Given the description of an element on the screen output the (x, y) to click on. 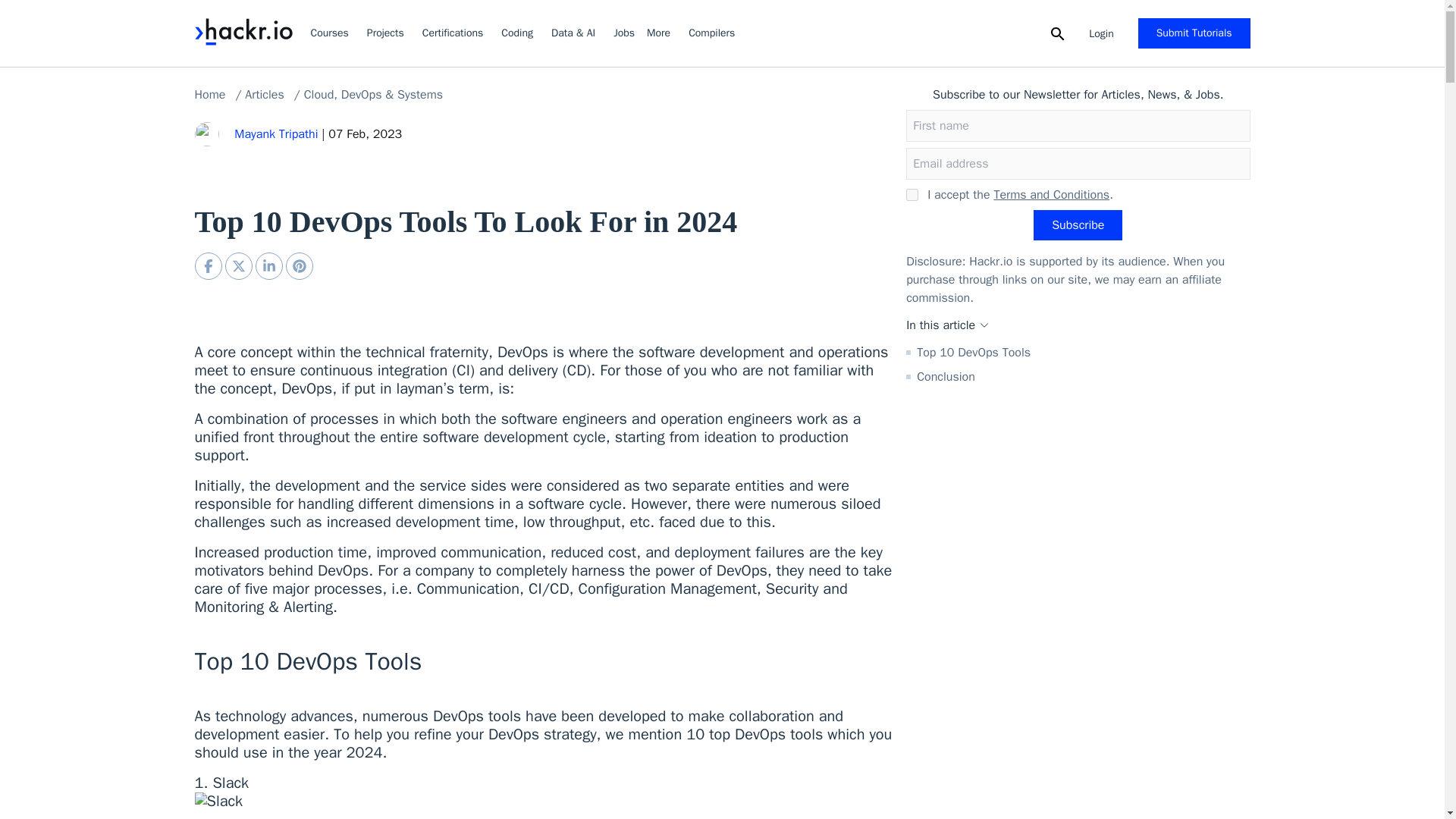
on (911, 194)
Login (1101, 33)
Top 10 DevOps Tools To Look For in 2024 (207, 266)
Share on X (237, 266)
Jobs (623, 33)
Share on Pinterest (299, 266)
Submit Tutorials (1194, 33)
Share on Linkedin (268, 266)
